Given the description of an element on the screen output the (x, y) to click on. 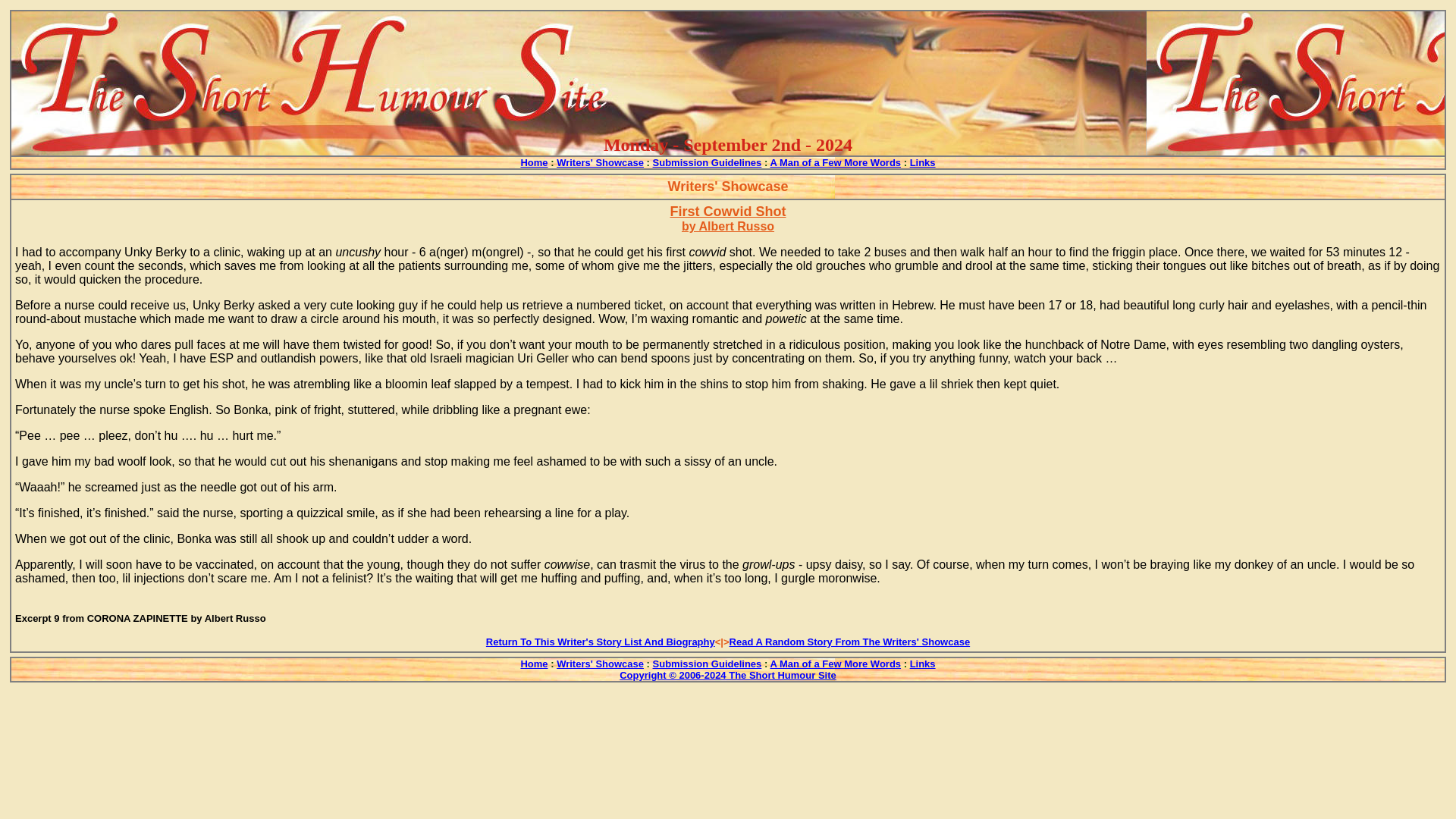
Links (923, 161)
Return To This Writer's Story List And Biography (600, 640)
Read A Random Story From The Writers' Showcase (850, 640)
Writers' Showcase (599, 161)
Home (533, 161)
Links (923, 662)
Submission Guidelines (706, 161)
Submission Guidelines (706, 662)
A Man of a Few More Words (835, 662)
Writers' Showcase (599, 662)
